Given the description of an element on the screen output the (x, y) to click on. 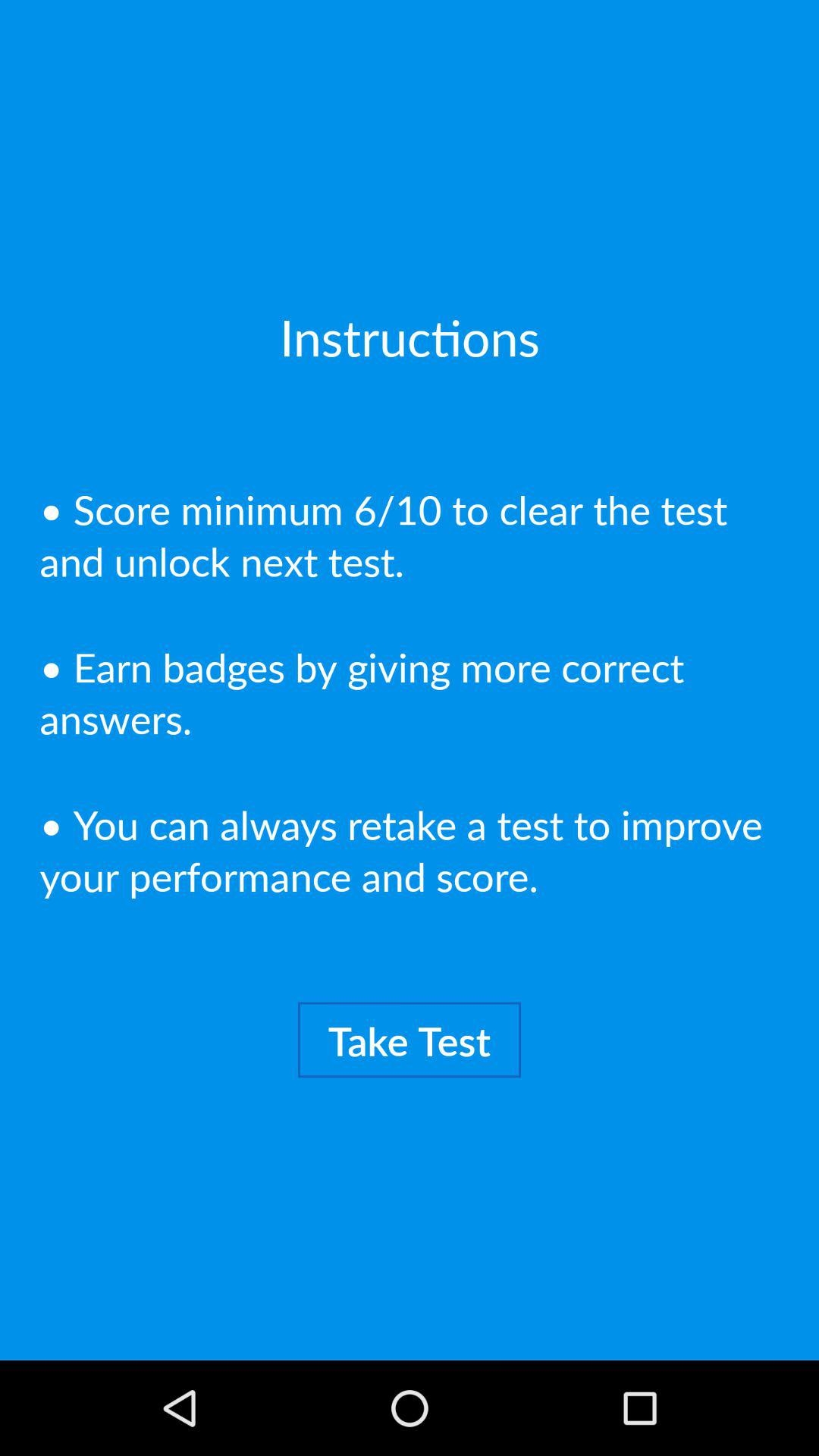
select item below the you can always item (409, 1039)
